Given the description of an element on the screen output the (x, y) to click on. 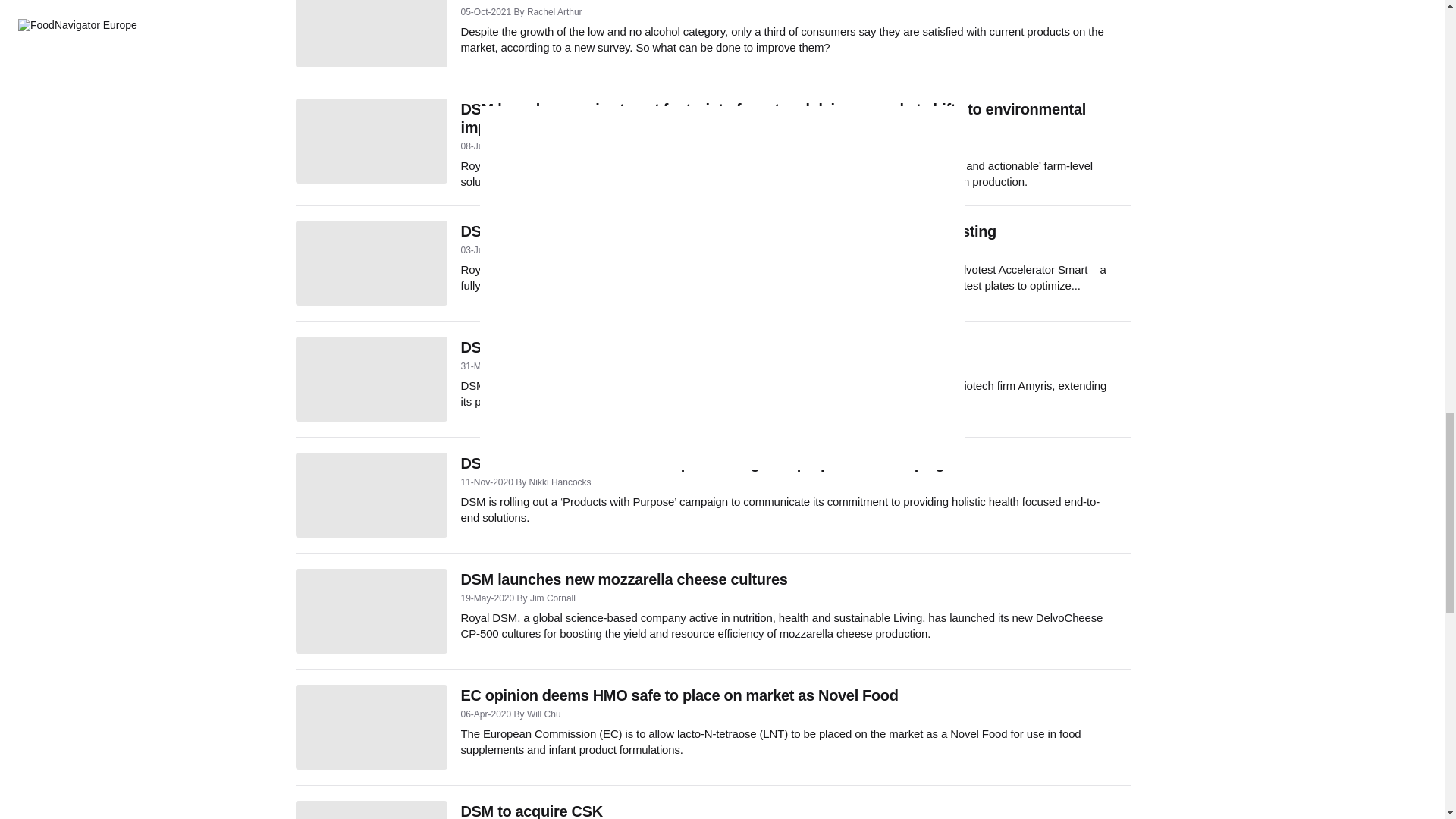
View full article (370, 33)
